Given the description of an element on the screen output the (x, y) to click on. 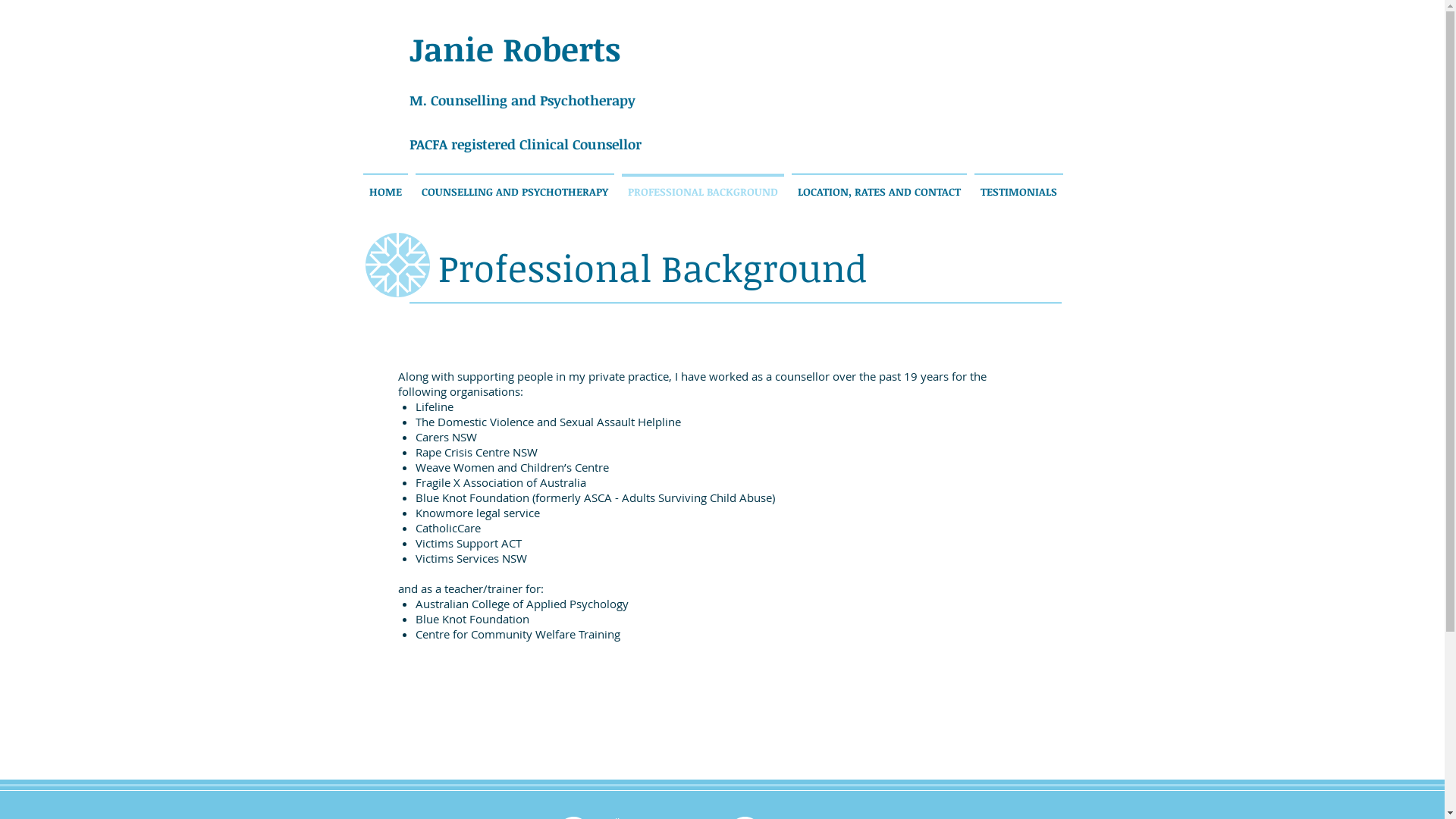
COUNSELLING AND PSYCHOTHERAPY Element type: text (514, 184)
LOCATION, RATES AND CONTACT Element type: text (878, 184)
TESTIMONIALS Element type: text (1018, 184)
Janie Roberts Element type: text (514, 48)
PROFESSIONAL BACKGROUND Element type: text (702, 184)
HOME Element type: text (385, 184)
